Given the description of an element on the screen output the (x, y) to click on. 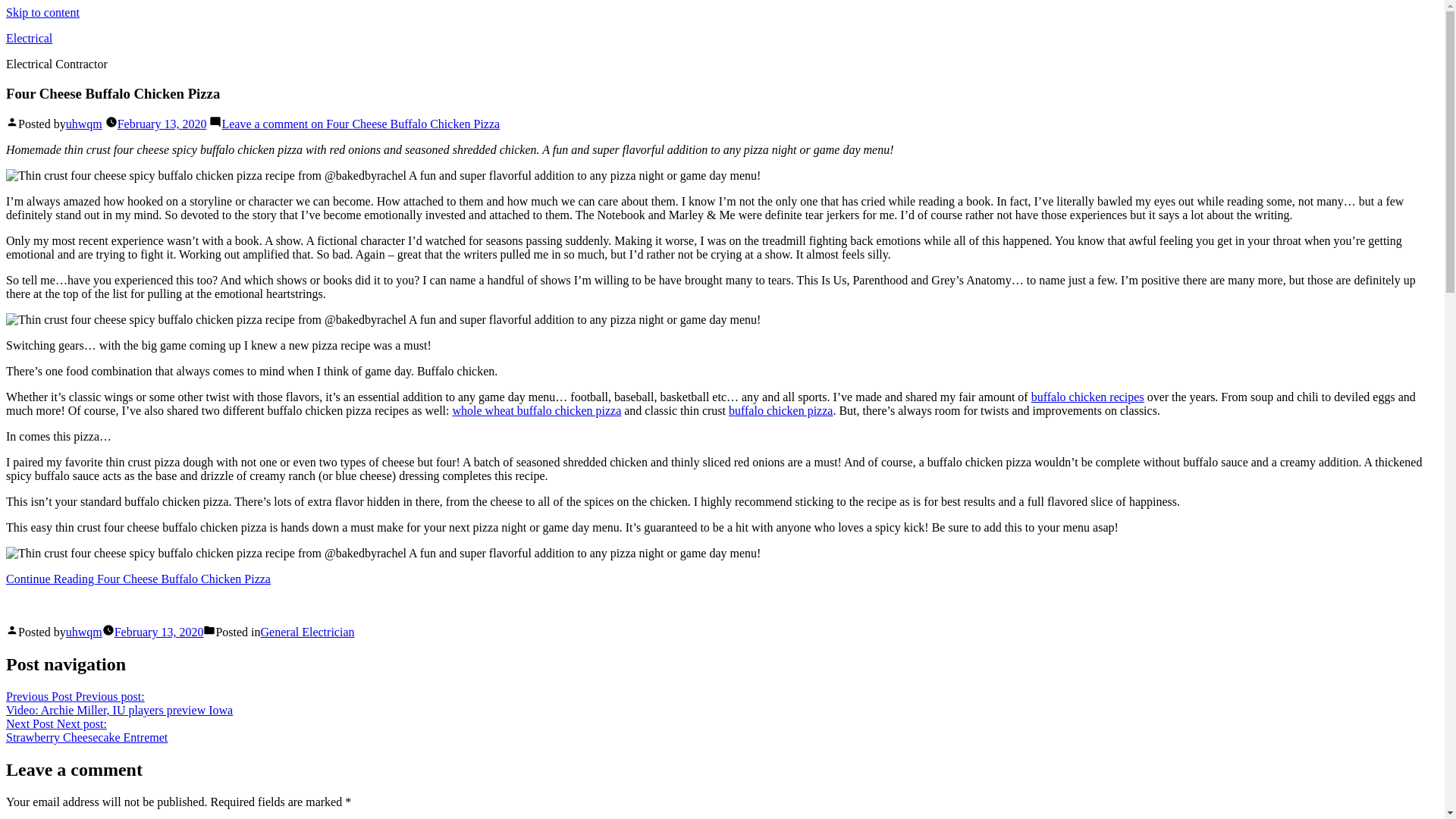
February 13, 2020 (159, 631)
whole wheat buffalo chicken pizza (536, 410)
buffalo chicken recipes (1087, 396)
Electrical (28, 38)
February 13, 2020 (161, 123)
uhwqm (83, 123)
General Electrician (307, 631)
Leave a comment on Four Cheese Buffalo Chicken Pizza (360, 123)
buffalo chicken pizza (780, 410)
Continue Reading Four Cheese Buffalo Chicken Pizza (86, 730)
Skip to content (137, 578)
uhwqm (42, 11)
